Given the description of an element on the screen output the (x, y) to click on. 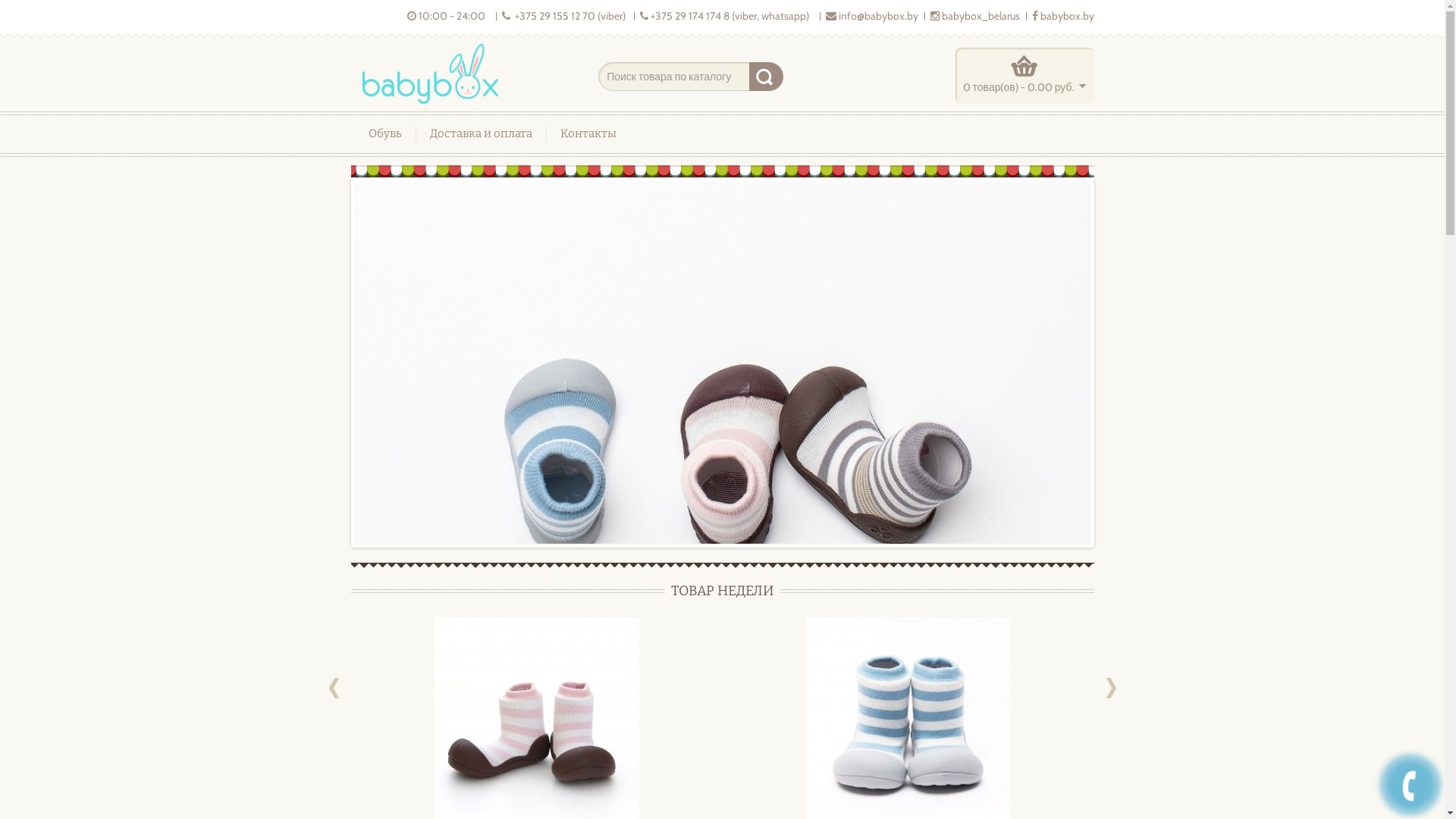
 babybox.by Element type: text (1062, 15)
  Element type: text (1111, 687)
 +375 29 174 174 8 (viber, whatsapp) Element type: text (724, 15)
 info@babybox.by Element type: text (871, 15)
  Element type: text (332, 687)
 babybox_belarus Element type: text (974, 15)
  +375 29 155 12 70 (viber) Element type: text (563, 15)
